Given the description of an element on the screen output the (x, y) to click on. 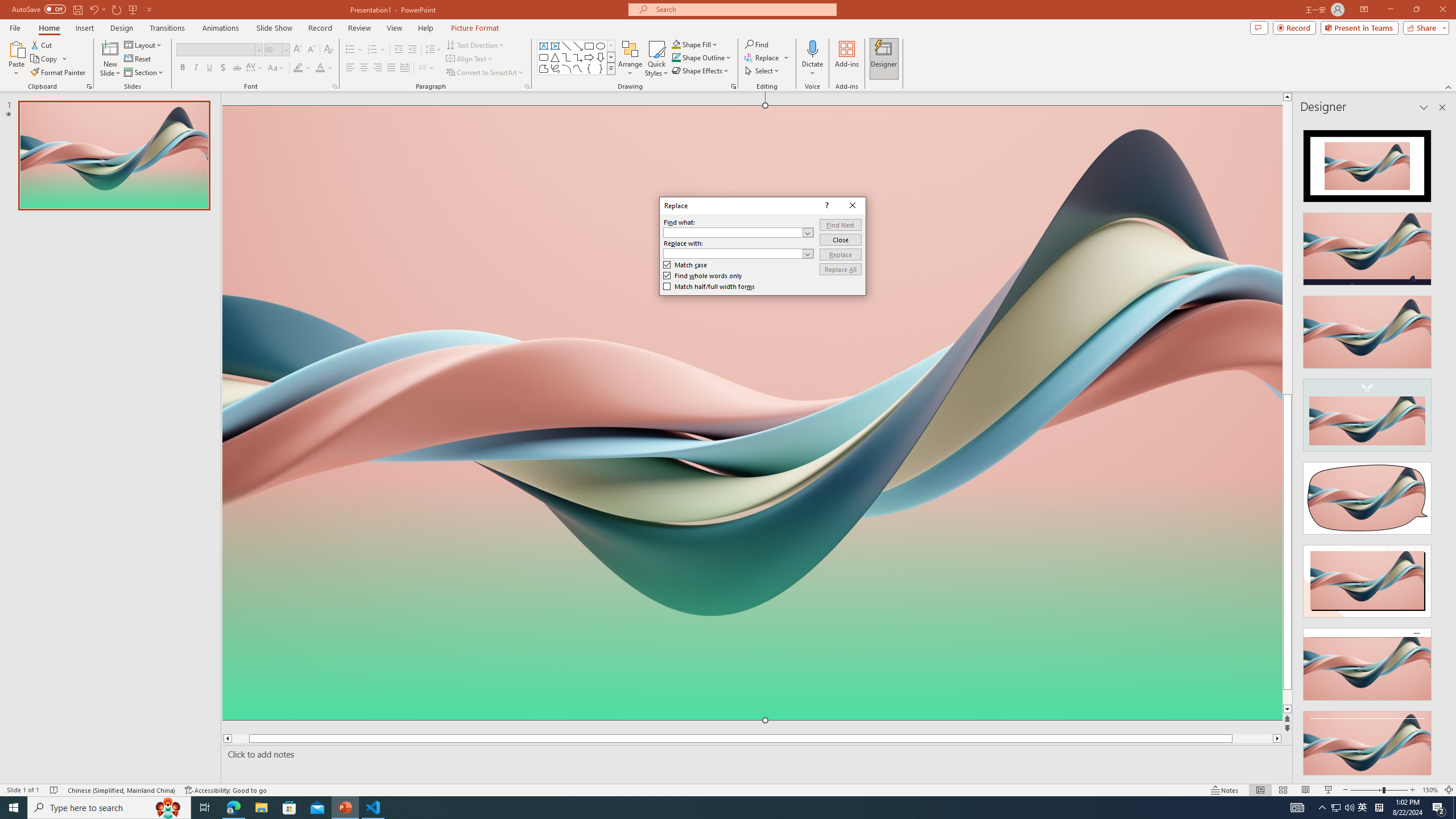
Find whole words only (702, 275)
Find what (737, 232)
